Given the description of an element on the screen output the (x, y) to click on. 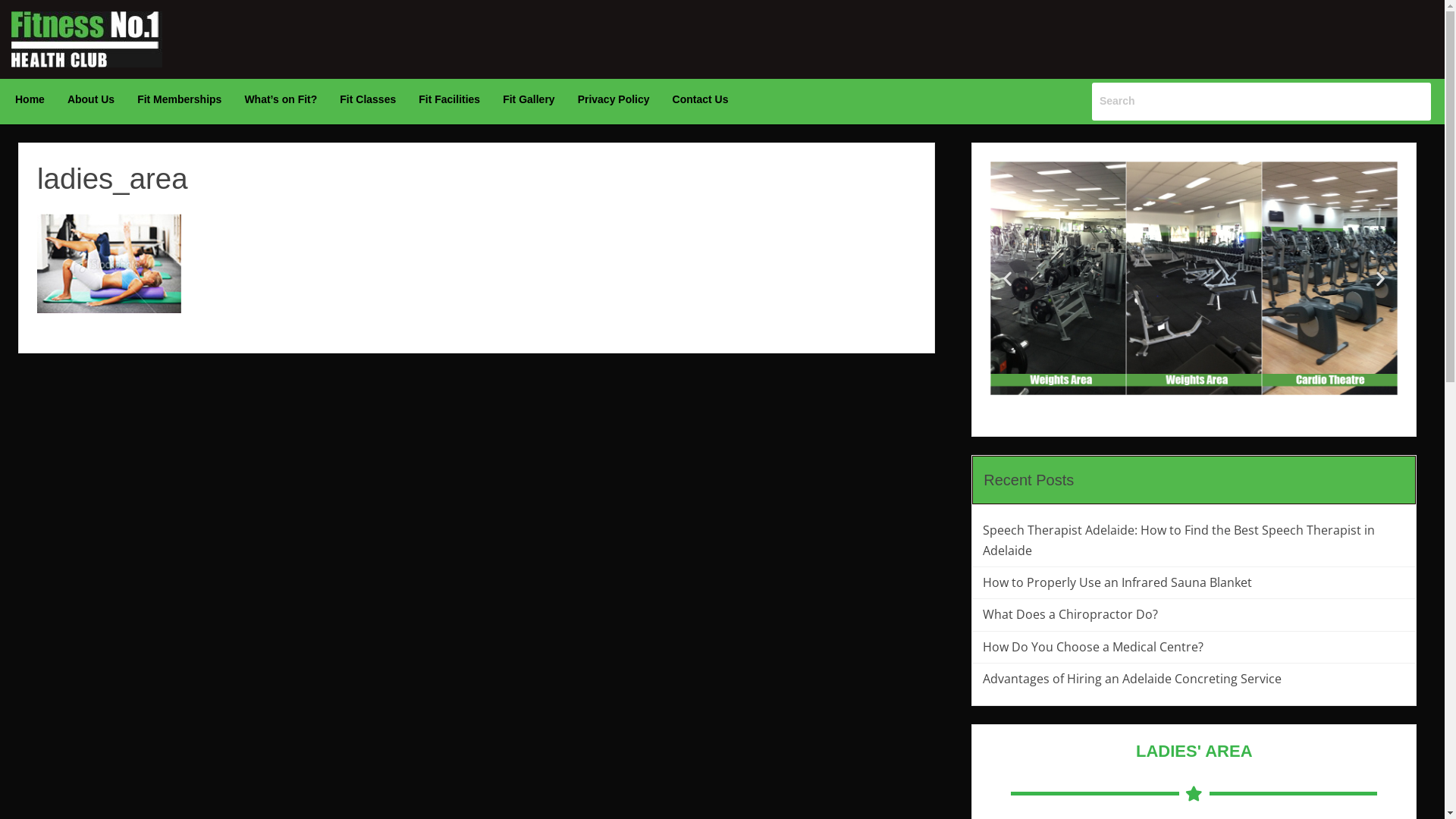
About Us Element type: text (90, 99)
Privacy Policy Element type: text (613, 99)
Home Element type: text (29, 99)
Fit Gallery Element type: text (528, 99)
Fit Memberships Element type: text (178, 99)
Fit Facilities Element type: text (449, 99)
Advantages of Hiring an Adelaide Concreting Service Element type: text (1193, 678)
Contact Us Element type: text (700, 99)
Search Element type: hover (1261, 101)
What Does a Chiropractor Do? Element type: text (1193, 614)
Fit Classes Element type: text (367, 99)
How Do You Choose a Medical Centre? Element type: text (1193, 647)
How to Properly Use an Infrared Sauna Blanket Element type: text (1193, 582)
